Given the description of an element on the screen output the (x, y) to click on. 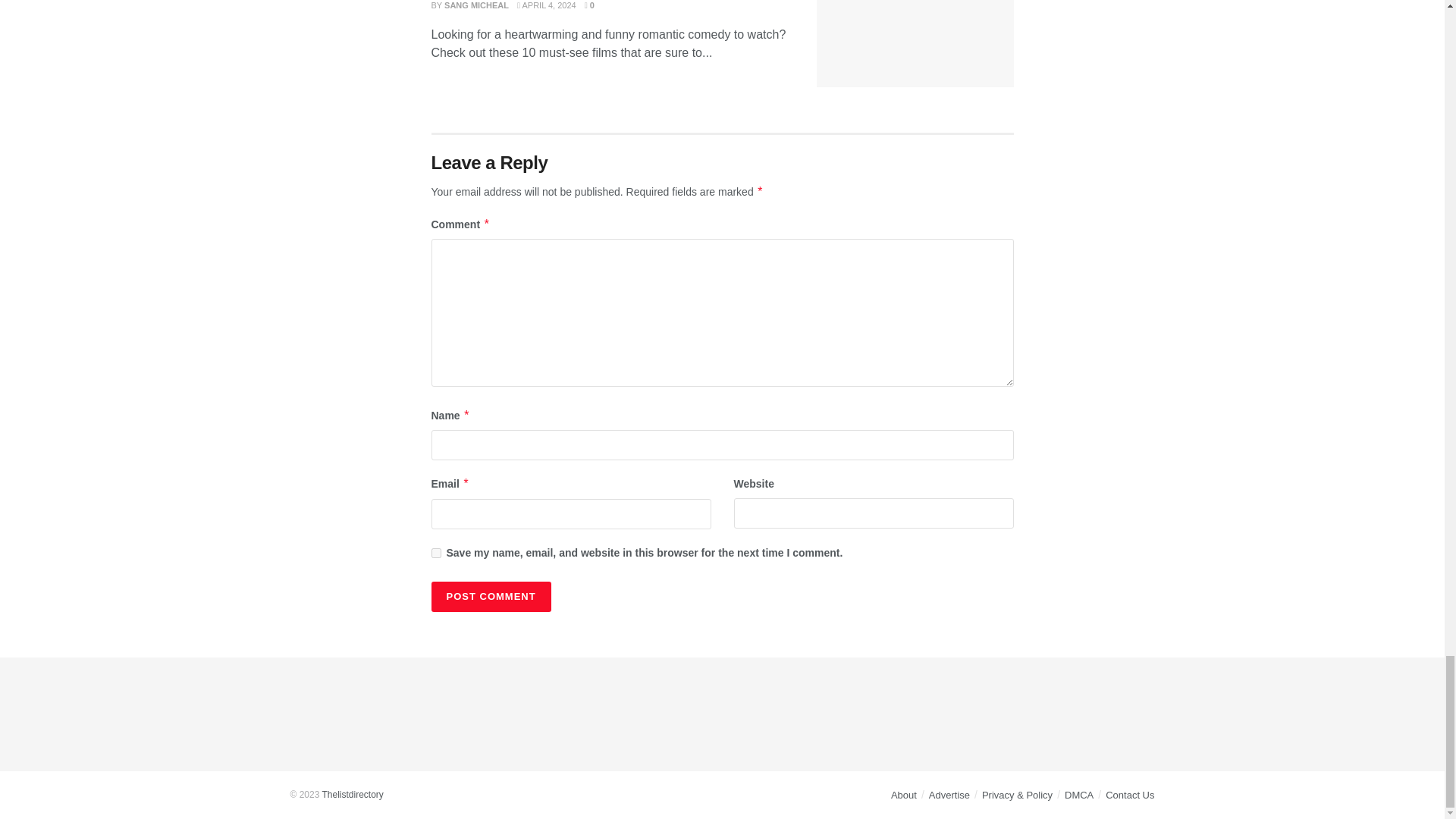
Post Comment (490, 596)
The list directory (351, 794)
yes (435, 552)
